Given the description of an element on the screen output the (x, y) to click on. 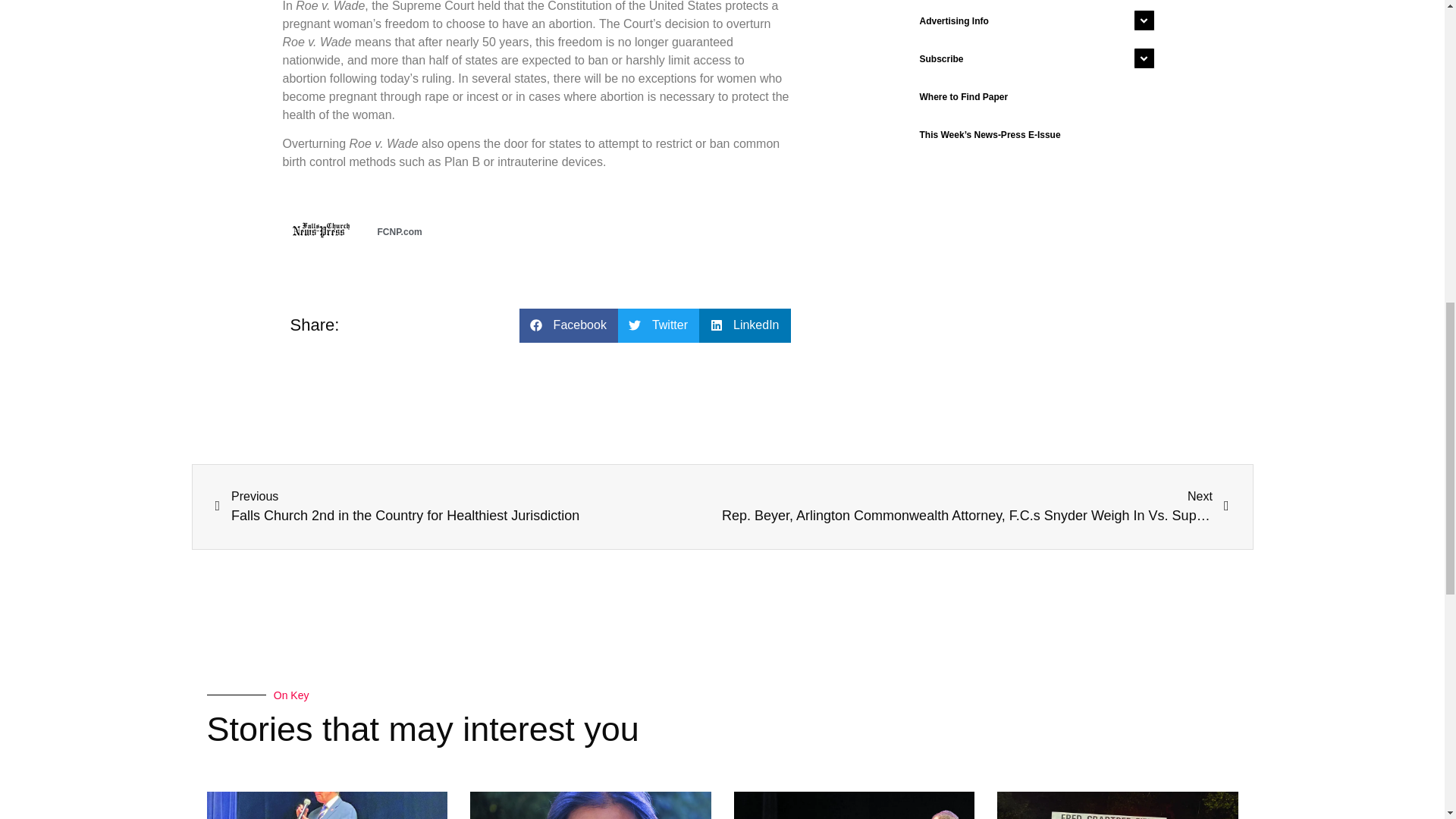
Advertising Info (1032, 21)
Subscribe (1032, 58)
